Given the description of an element on the screen output the (x, y) to click on. 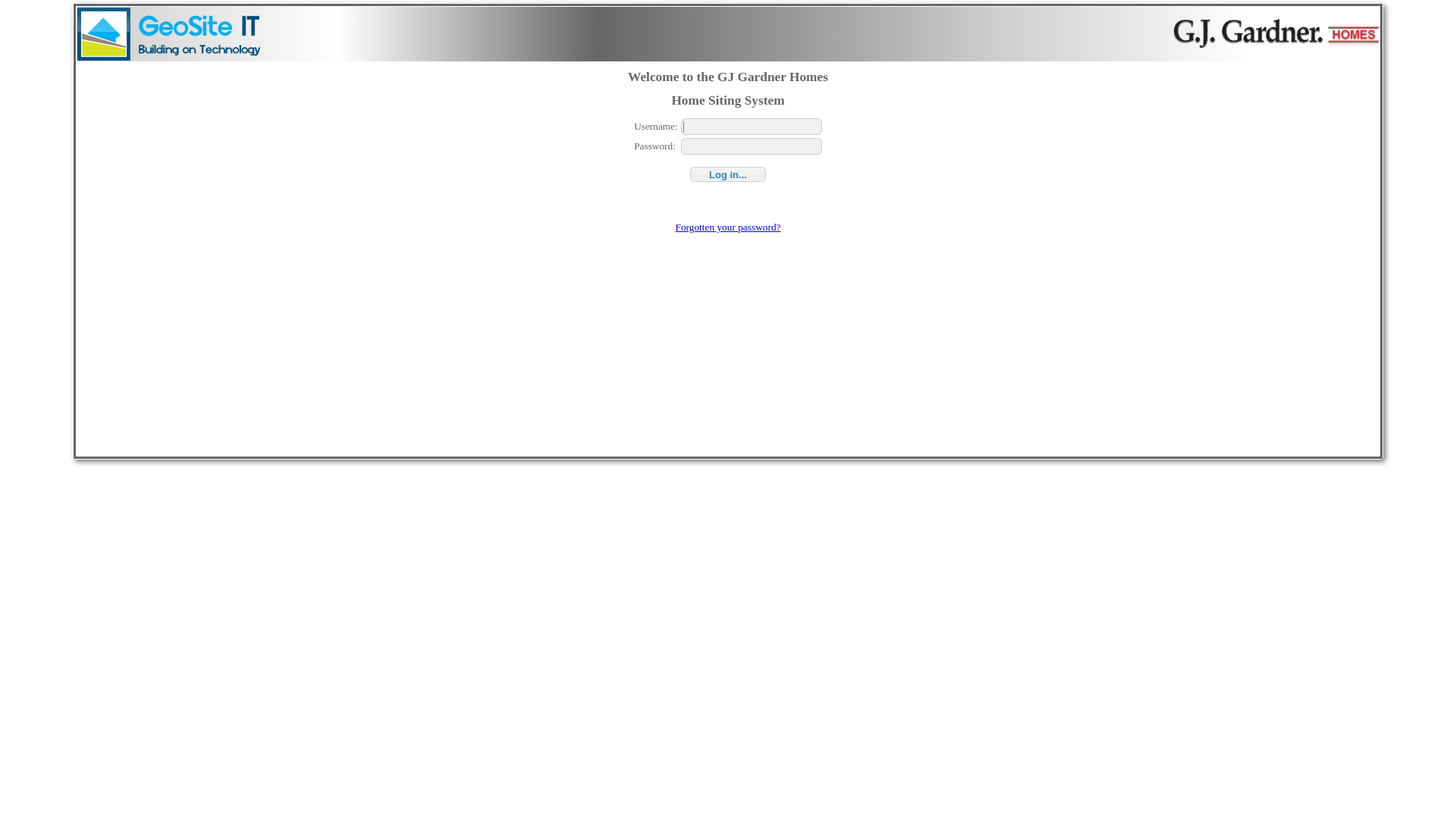
Forgotten your password? Element type: text (728, 226)
Log in... Element type: text (727, 174)
